Given the description of an element on the screen output the (x, y) to click on. 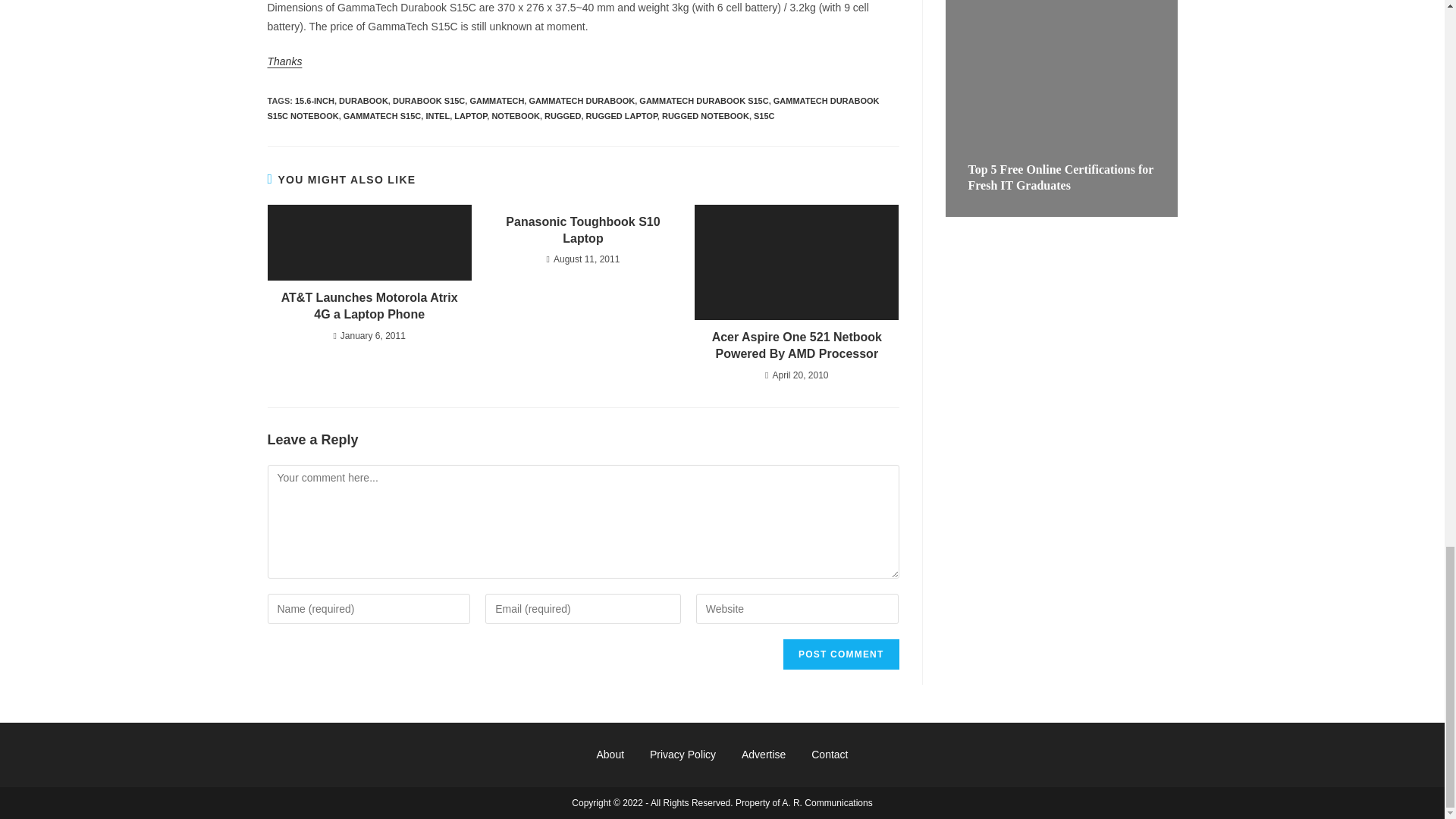
Top 5 Free Online Certifications for Fresh IT Graduates (1060, 176)
Thanks (283, 61)
Post Comment (840, 654)
15.6-INCH (314, 100)
